Given the description of an element on the screen output the (x, y) to click on. 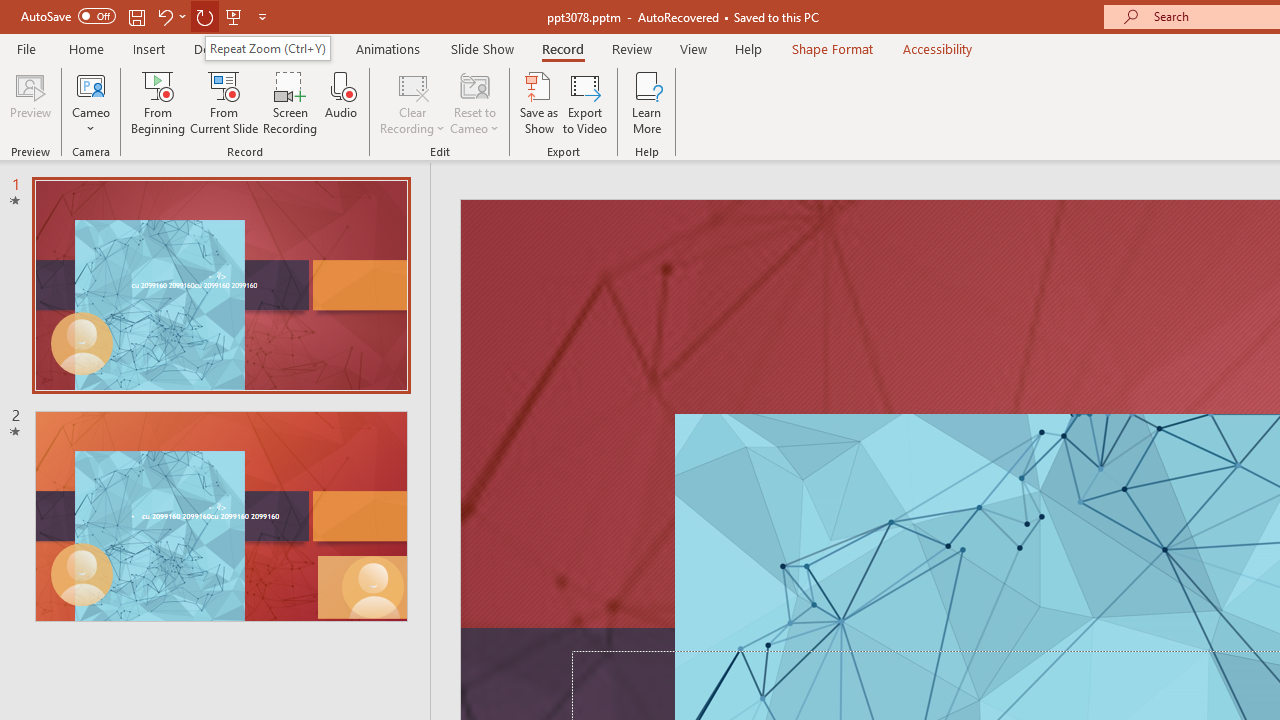
From Current Slide... (224, 102)
Repeat Zoom (Ctrl+Y) (267, 48)
Export to Video (585, 102)
From Beginning... (158, 102)
Learn More (646, 102)
Save as Show (539, 102)
